Given the description of an element on the screen output the (x, y) to click on. 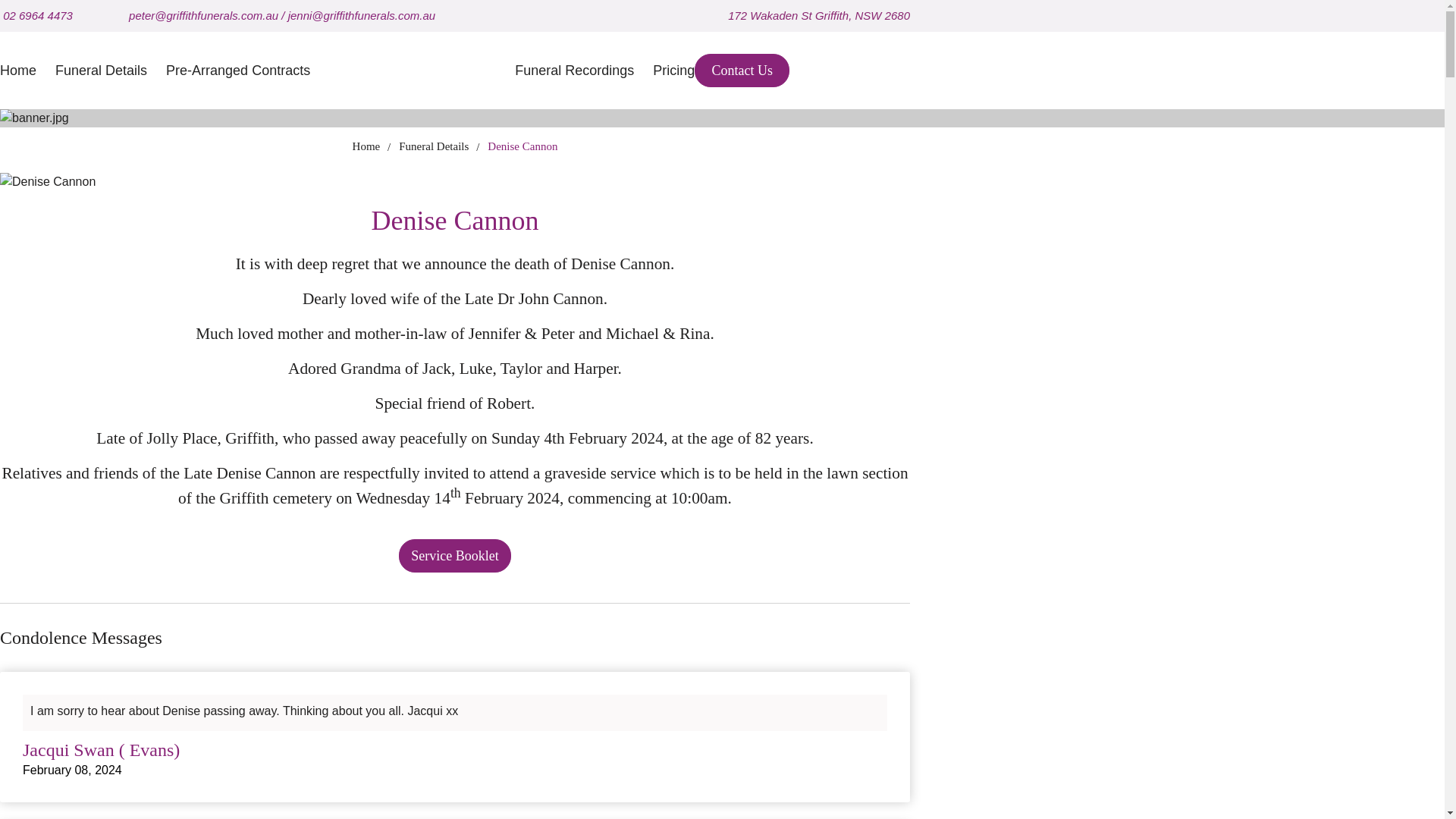
Home (366, 145)
Contact Us (741, 70)
Funeral Recordings (574, 69)
Home (18, 69)
Funeral Details (101, 69)
Funeral Details (433, 145)
02 6964 4473 (37, 15)
Pre-Arranged Contracts (237, 69)
Pricing (673, 69)
Service Booklet (454, 555)
